Given the description of an element on the screen output the (x, y) to click on. 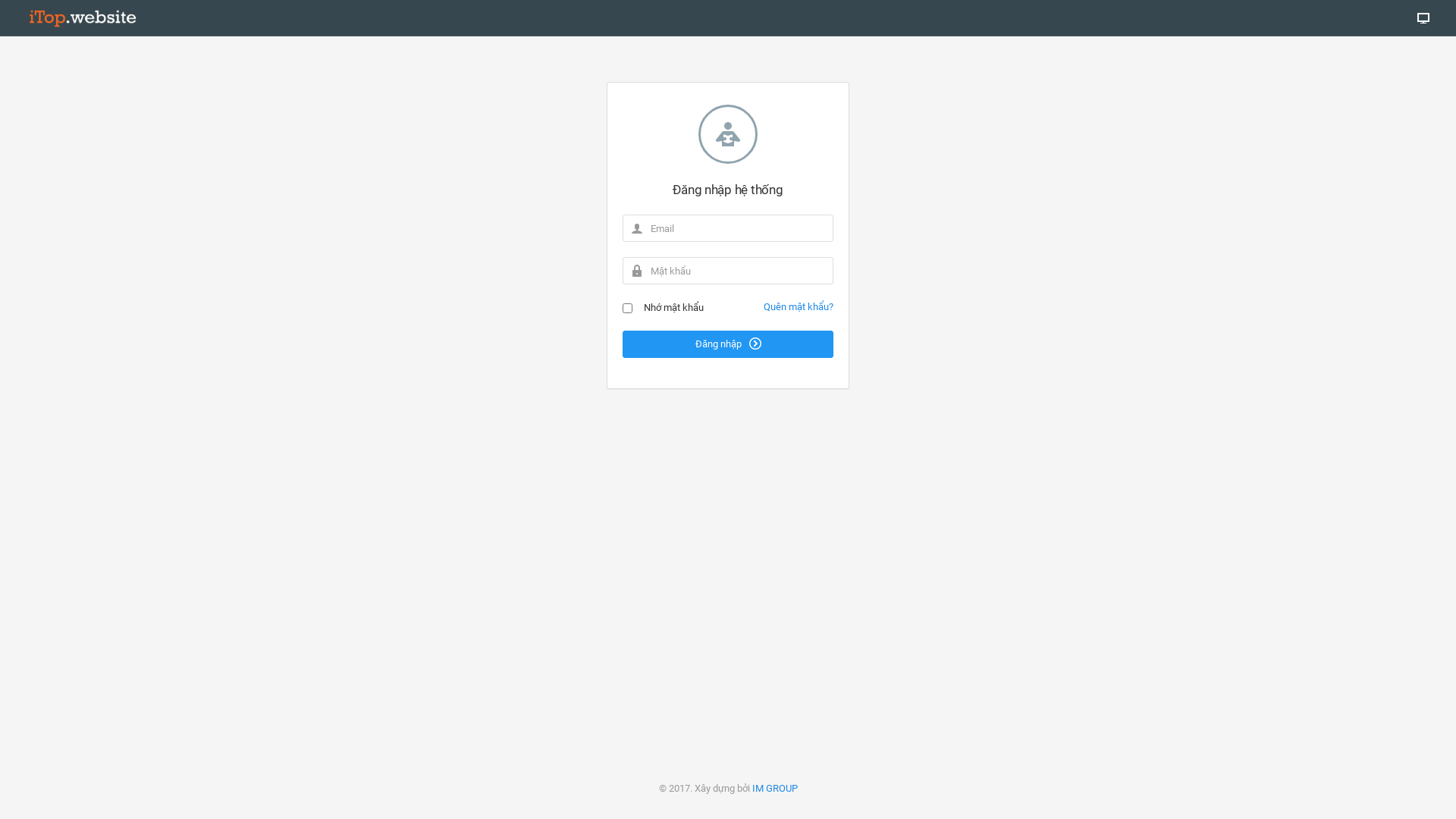
IM GROUP Element type: text (774, 787)
